Given the description of an element on the screen output the (x, y) to click on. 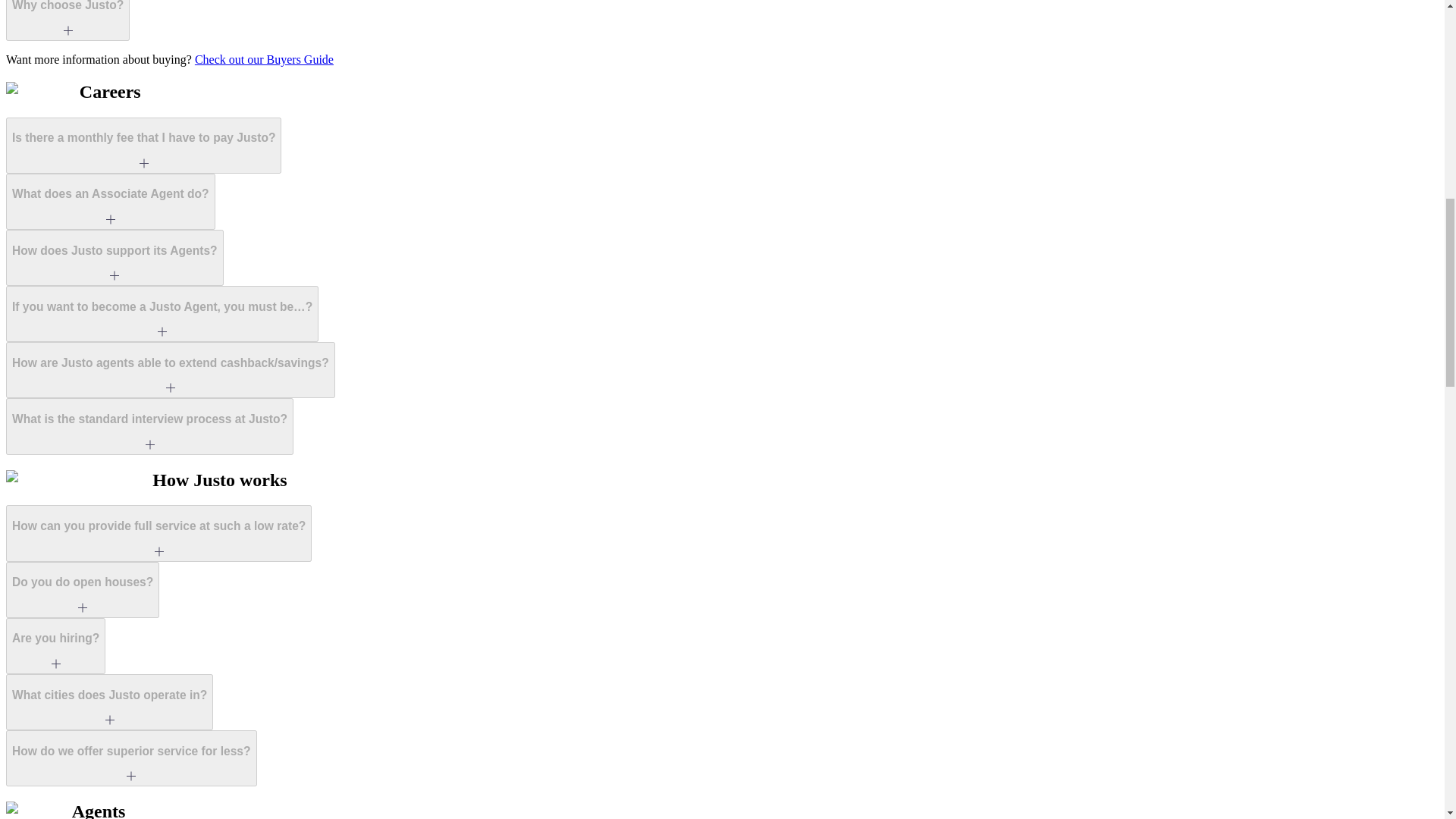
How do we offer superior service for less? (131, 758)
What does an Associate Agent do? (110, 201)
How can you provide full service at such a low rate? (158, 533)
Do you do open houses? (81, 589)
Check out our Buyers Guide (264, 59)
Are you hiring? (54, 646)
Why choose Justo? (67, 20)
What cities does Justo operate in? (108, 702)
How does Justo support its Agents? (114, 257)
What is the standard interview process at Justo? (149, 426)
Is there a monthly fee that I have to pay Justo? (143, 145)
